Given the description of an element on the screen output the (x, y) to click on. 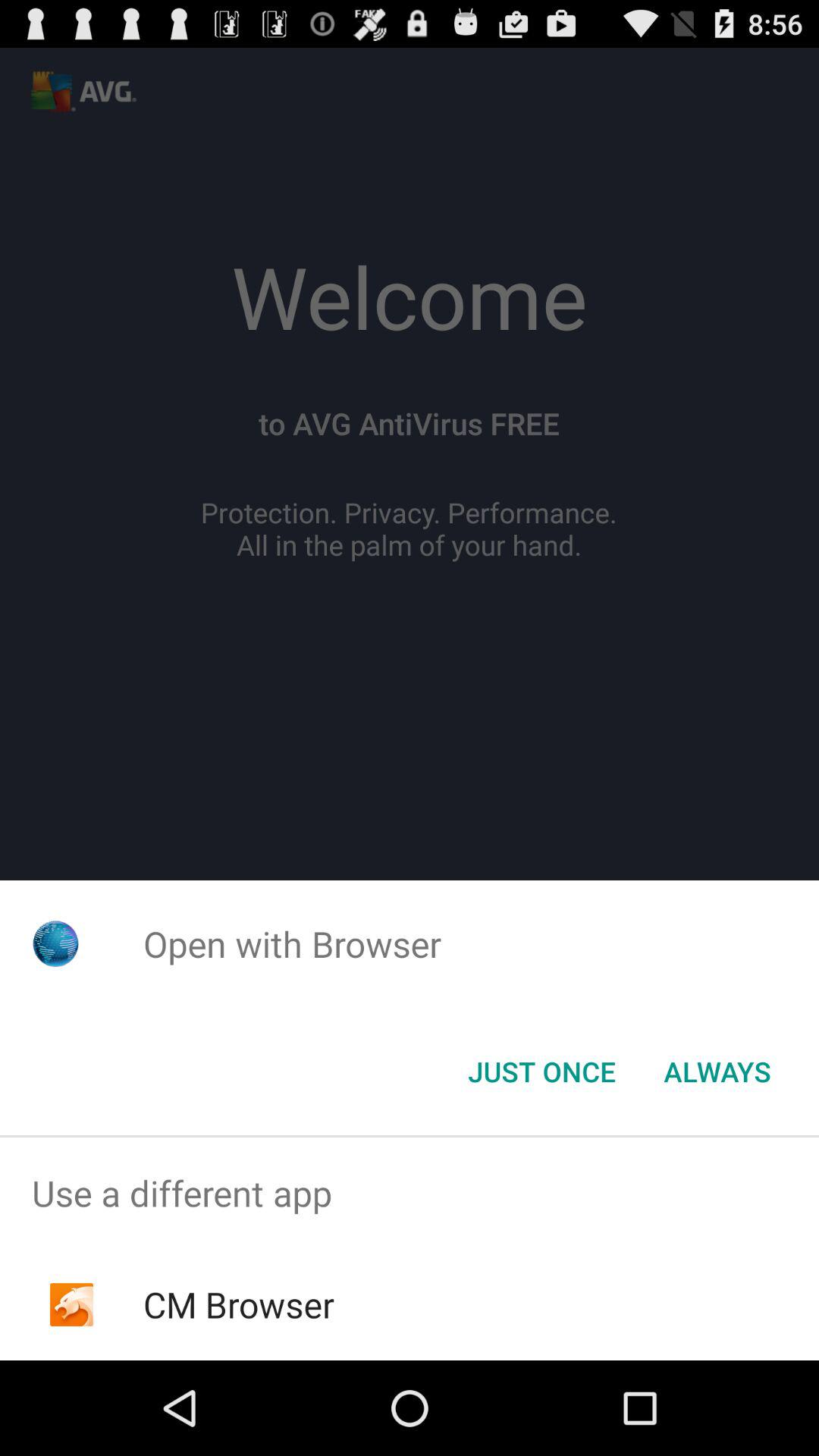
tap the app above the cm browser icon (409, 1192)
